Given the description of an element on the screen output the (x, y) to click on. 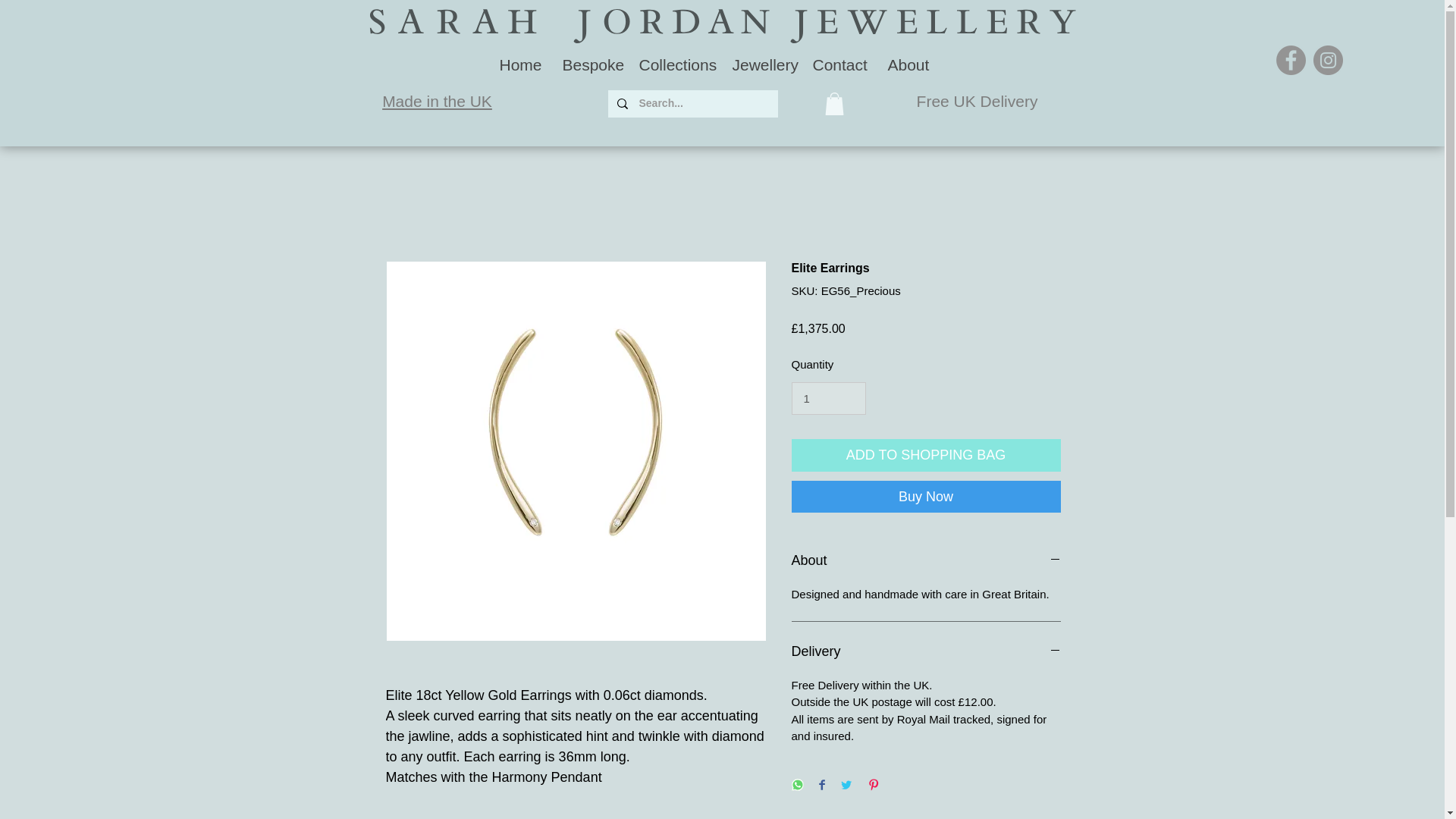
Delivery (926, 651)
About (906, 65)
Made in the UK (436, 100)
Jewellery (760, 65)
1 (829, 398)
Bespoke (588, 65)
Home (518, 65)
About (926, 560)
Buy Now (926, 496)
ADD TO SHOPPING BAG (926, 454)
